Given the description of an element on the screen output the (x, y) to click on. 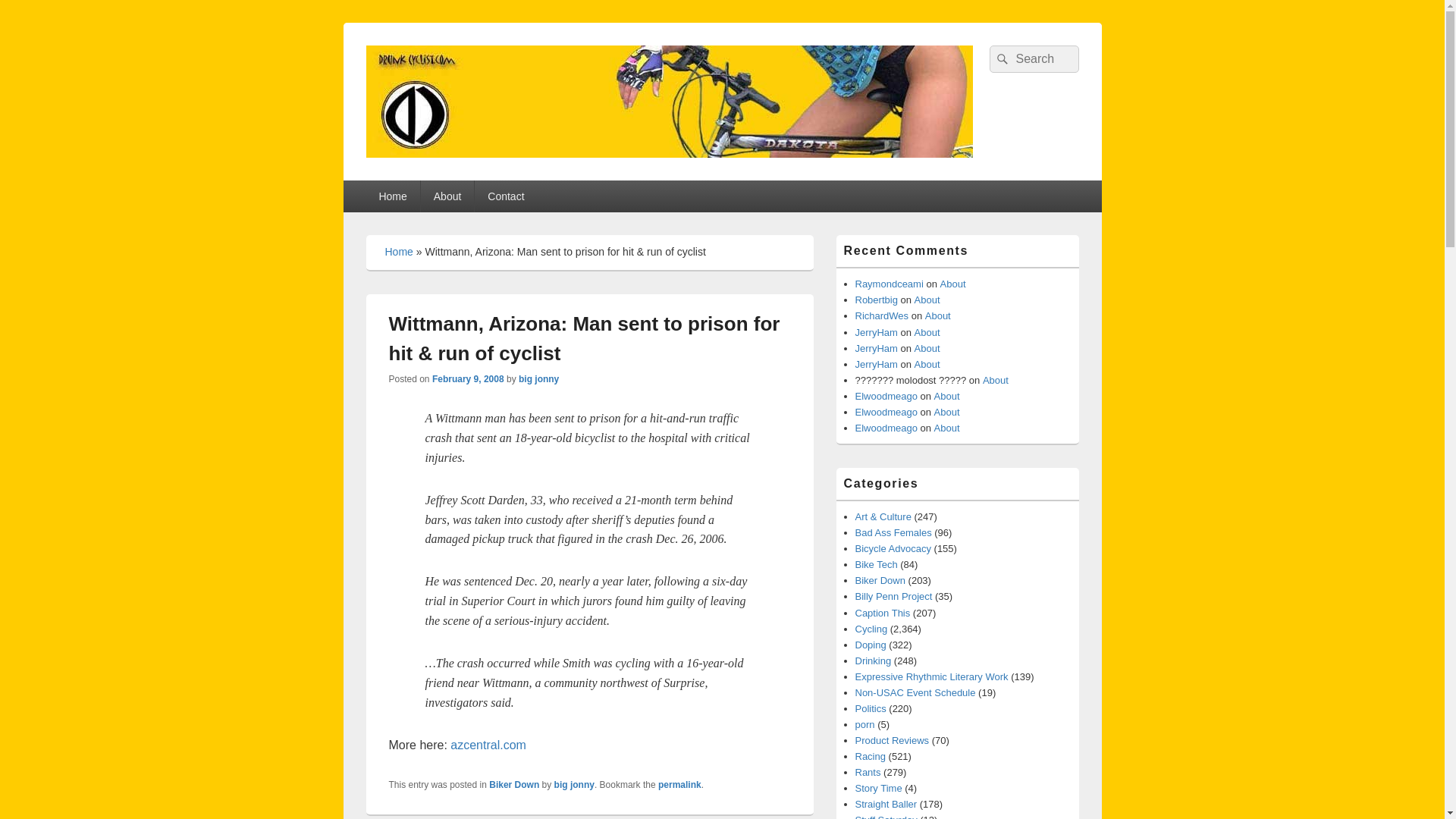
big jonny (538, 378)
Contact (505, 196)
About (927, 348)
Home (392, 196)
Raymondceami (889, 283)
Biker Down (513, 784)
JerryHam (877, 364)
About (953, 283)
Drunkcyclist.com (478, 174)
JerryHam (877, 348)
